Given the description of an element on the screen output the (x, y) to click on. 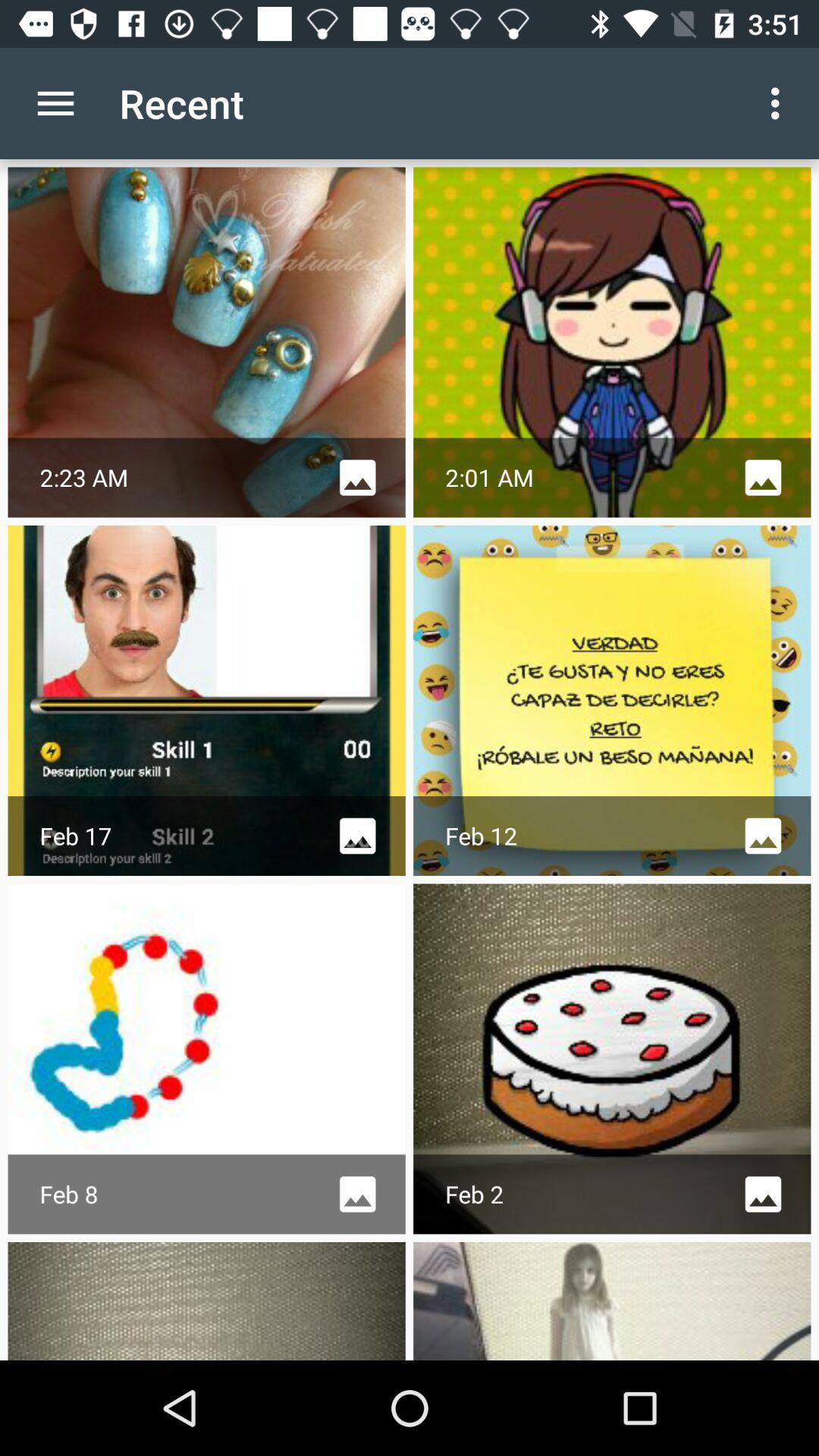
press icon next to the recent icon (779, 103)
